Given the description of an element on the screen output the (x, y) to click on. 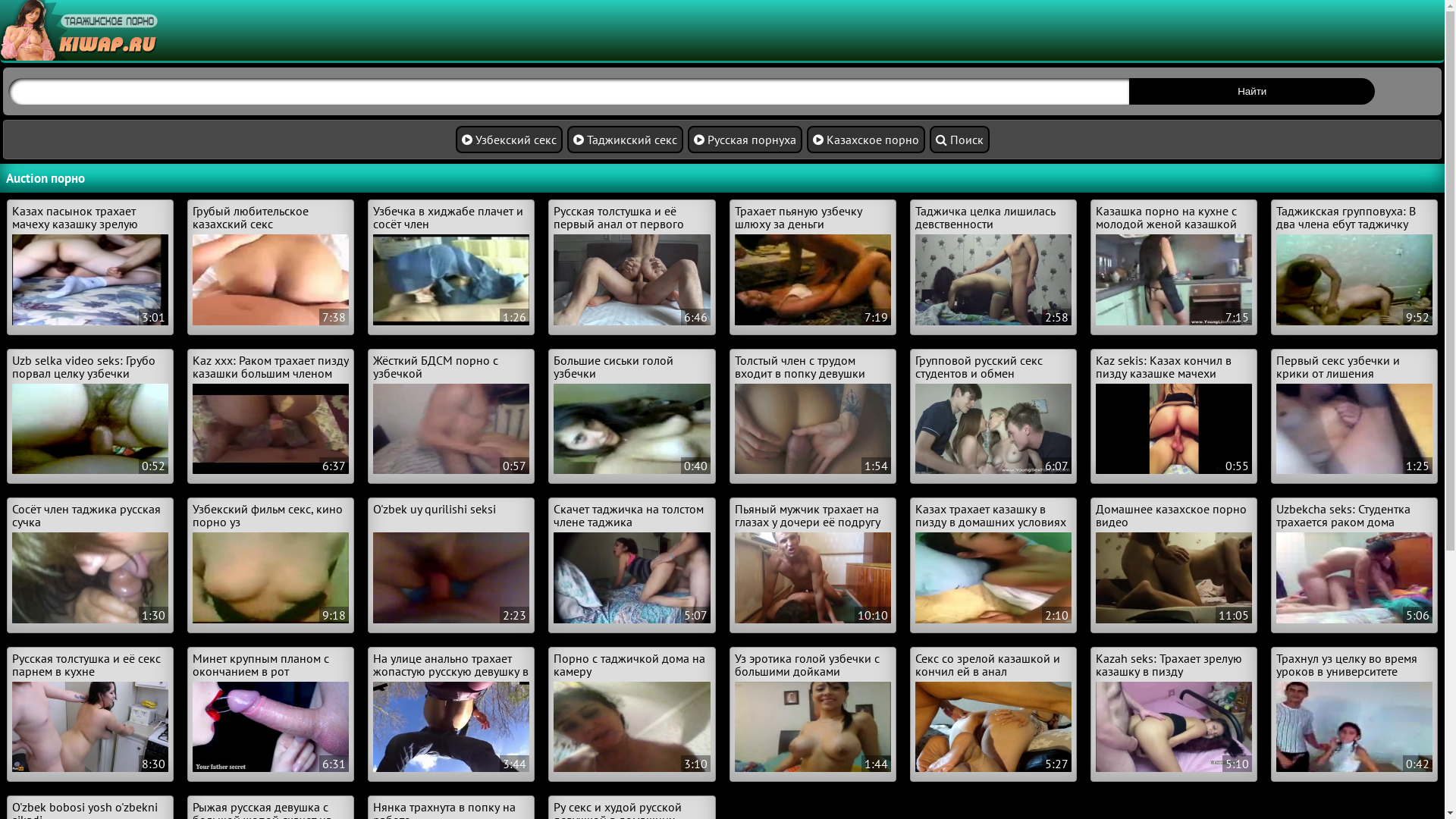
O'zbek uy qurilishi seksi
2:23 Element type: text (451, 562)
